Given the description of an element on the screen output the (x, y) to click on. 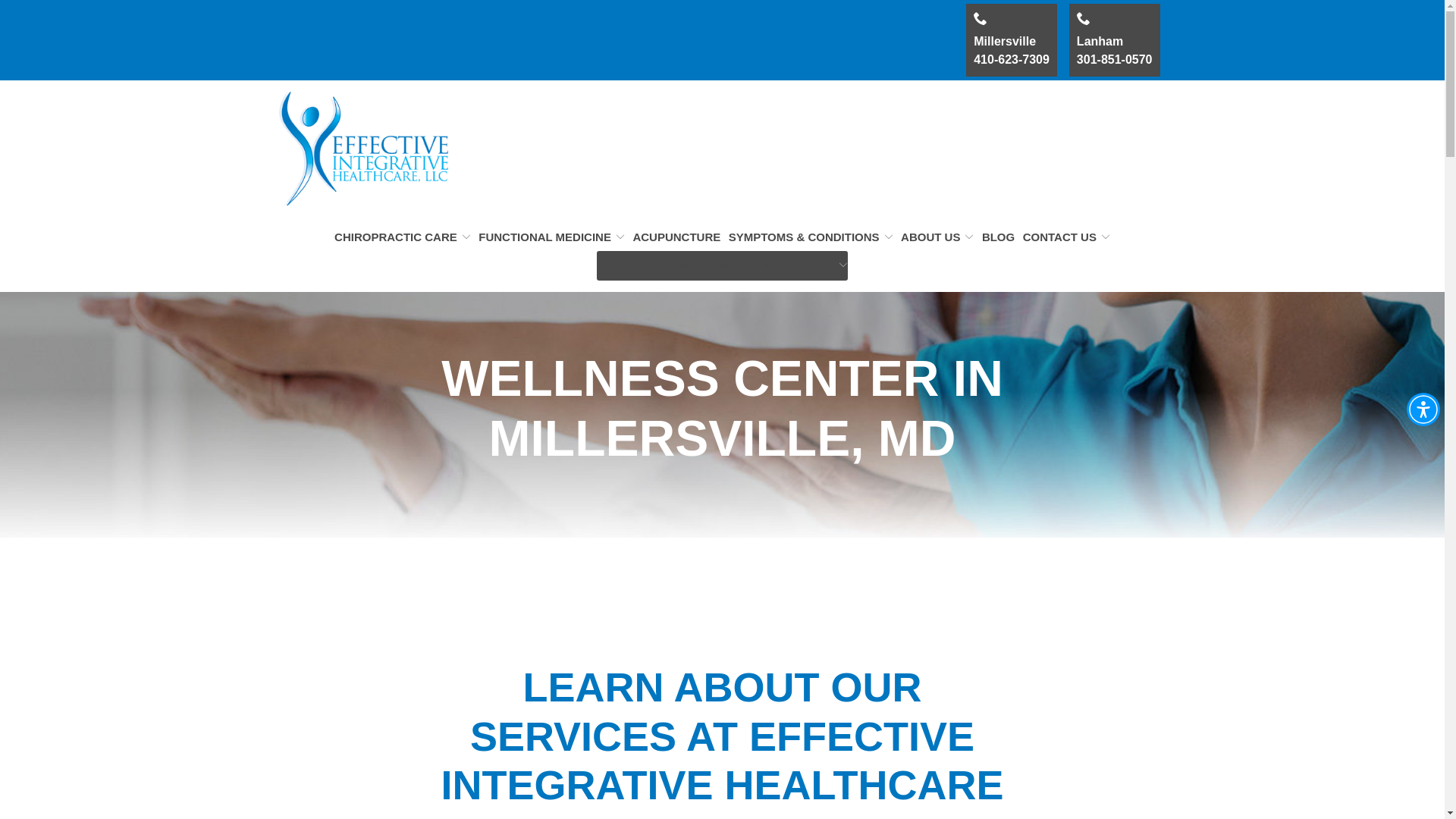
Accessibility Menu (1114, 40)
